Given the description of an element on the screen output the (x, y) to click on. 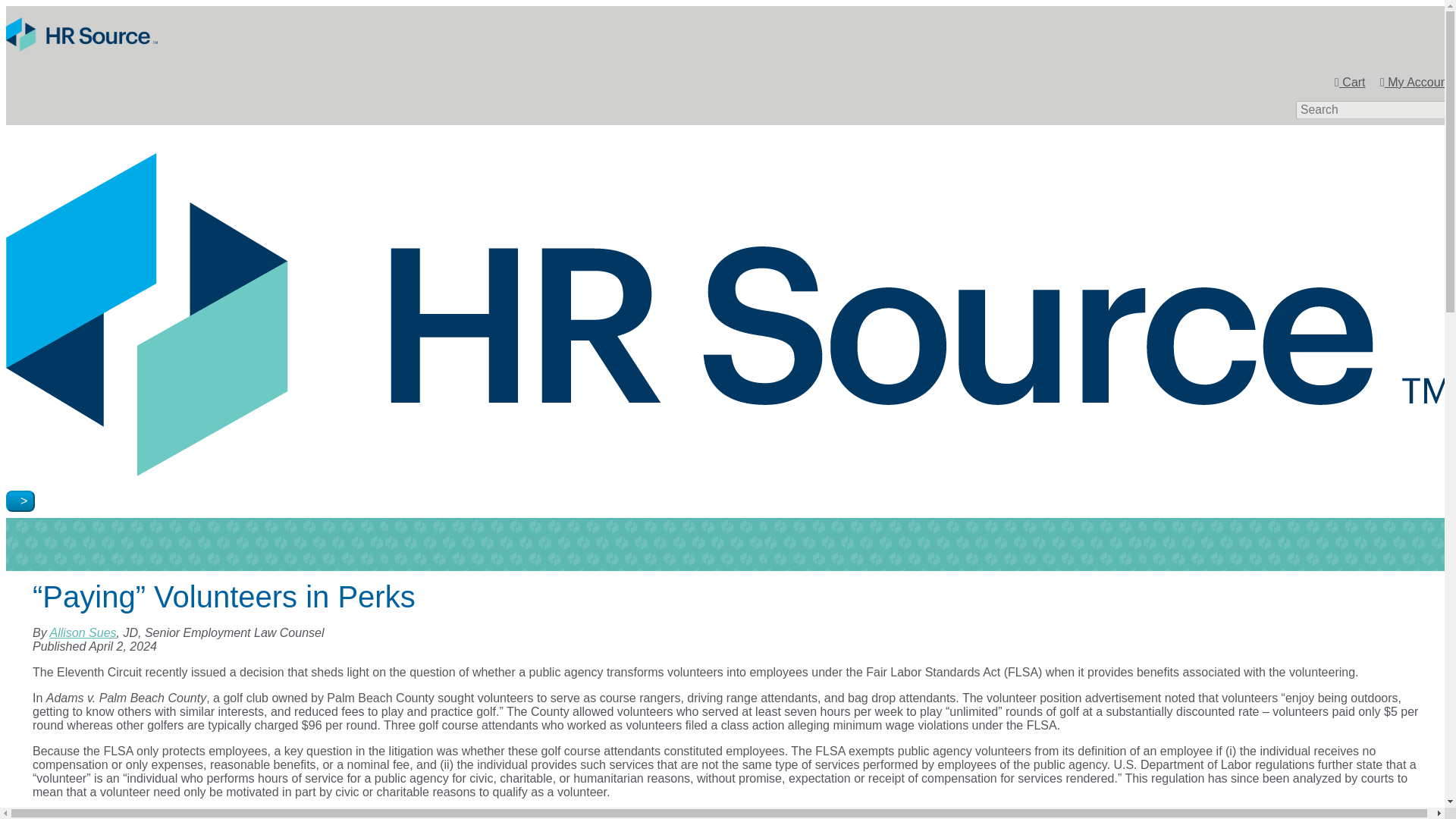
Cart (1350, 82)
Allison Sues (82, 632)
